Given the description of an element on the screen output the (x, y) to click on. 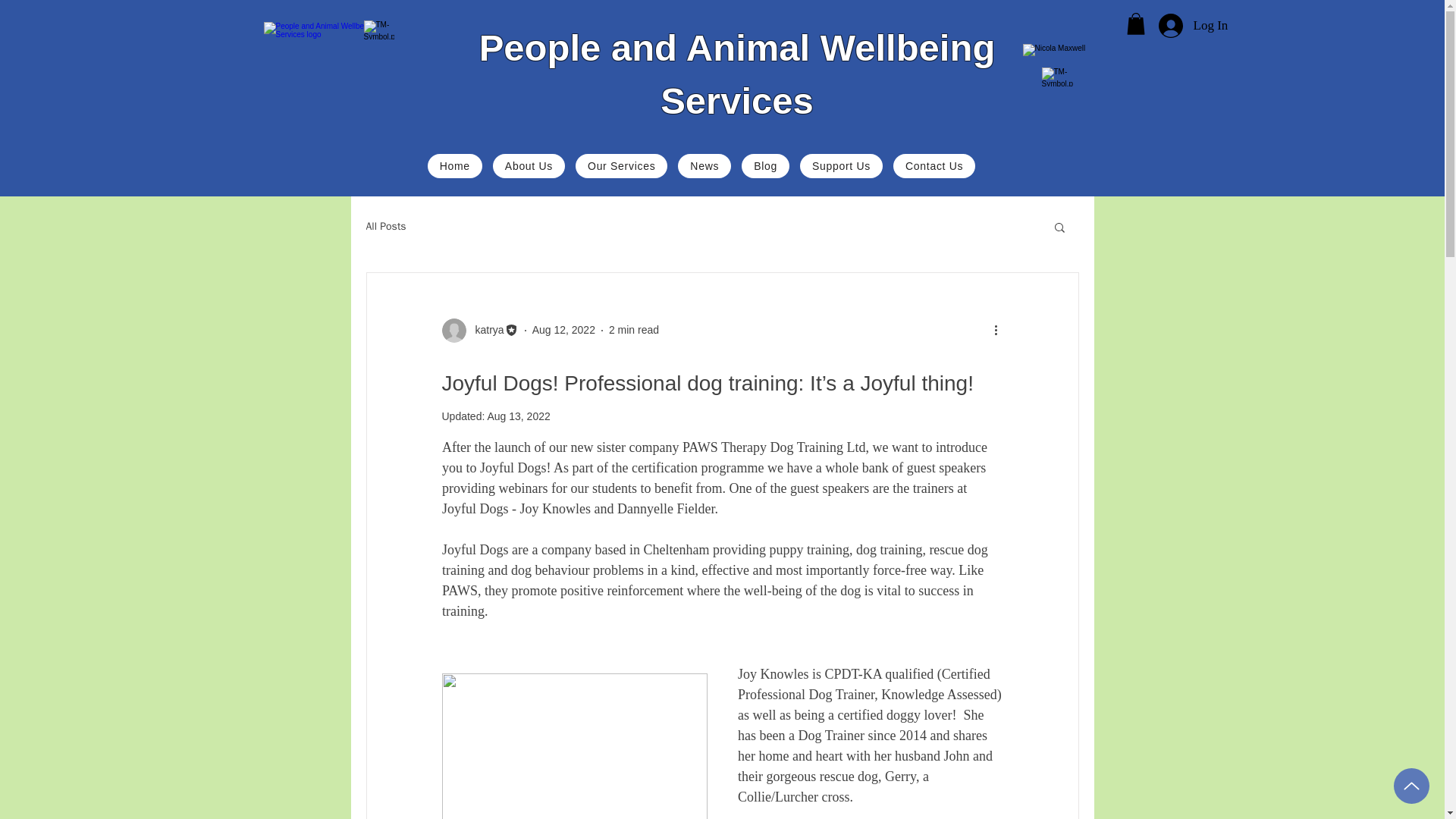
Support Us (840, 165)
All Posts (385, 226)
Blog (765, 165)
News (704, 165)
2 min read (633, 329)
katrya (479, 330)
Aug 12, 2022 (563, 329)
Our Services (620, 165)
Contact Us (934, 165)
About Us (528, 165)
katrya (484, 330)
Log In (1179, 25)
Home (454, 165)
Aug 13, 2022 (518, 416)
